Given the description of an element on the screen output the (x, y) to click on. 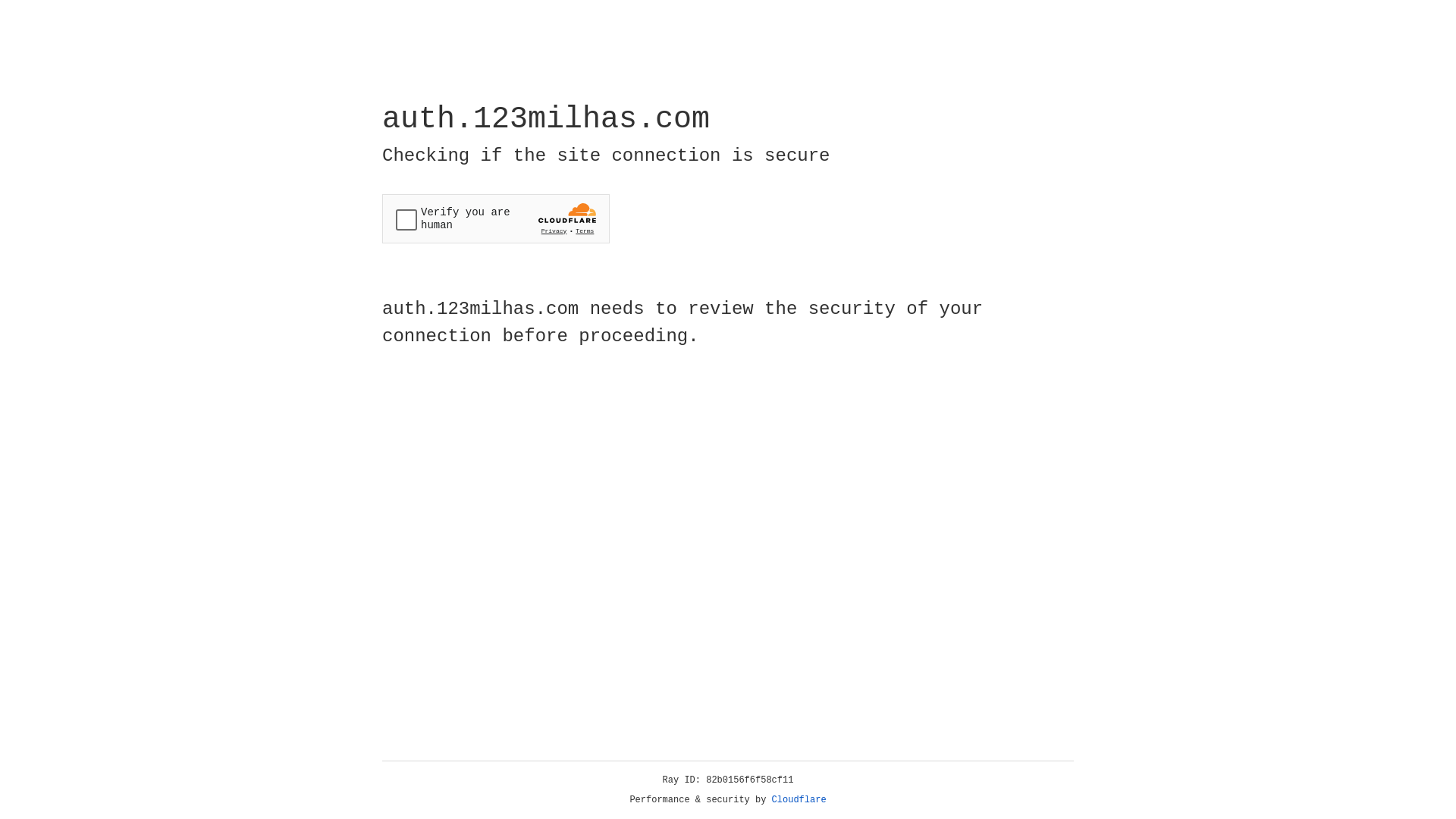
Cloudflare Element type: text (798, 799)
Widget containing a Cloudflare security challenge Element type: hover (495, 218)
